Given the description of an element on the screen output the (x, y) to click on. 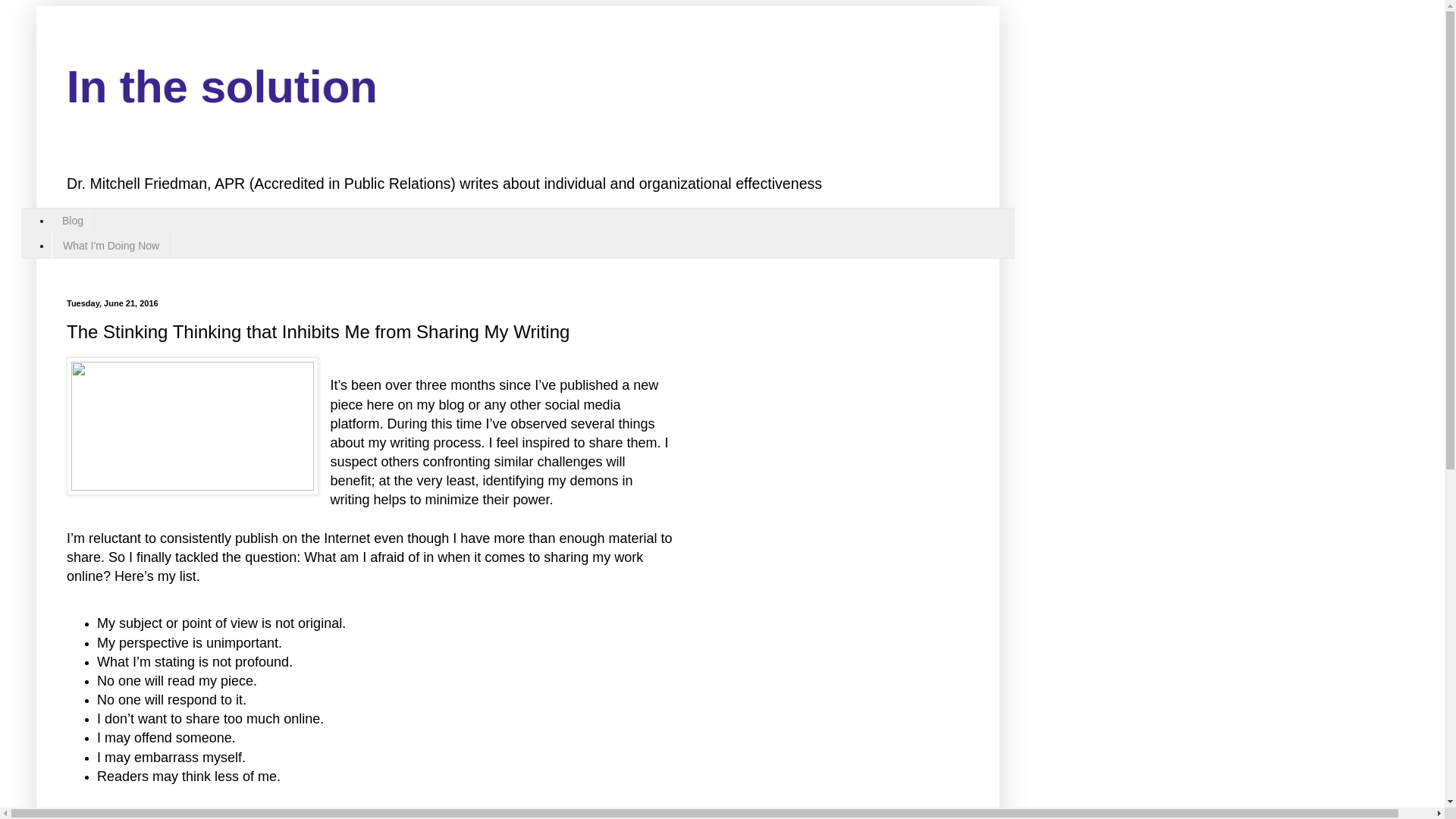
Blog (72, 220)
In the solution (221, 86)
What I'm Doing Now (110, 244)
